Given the description of an element on the screen output the (x, y) to click on. 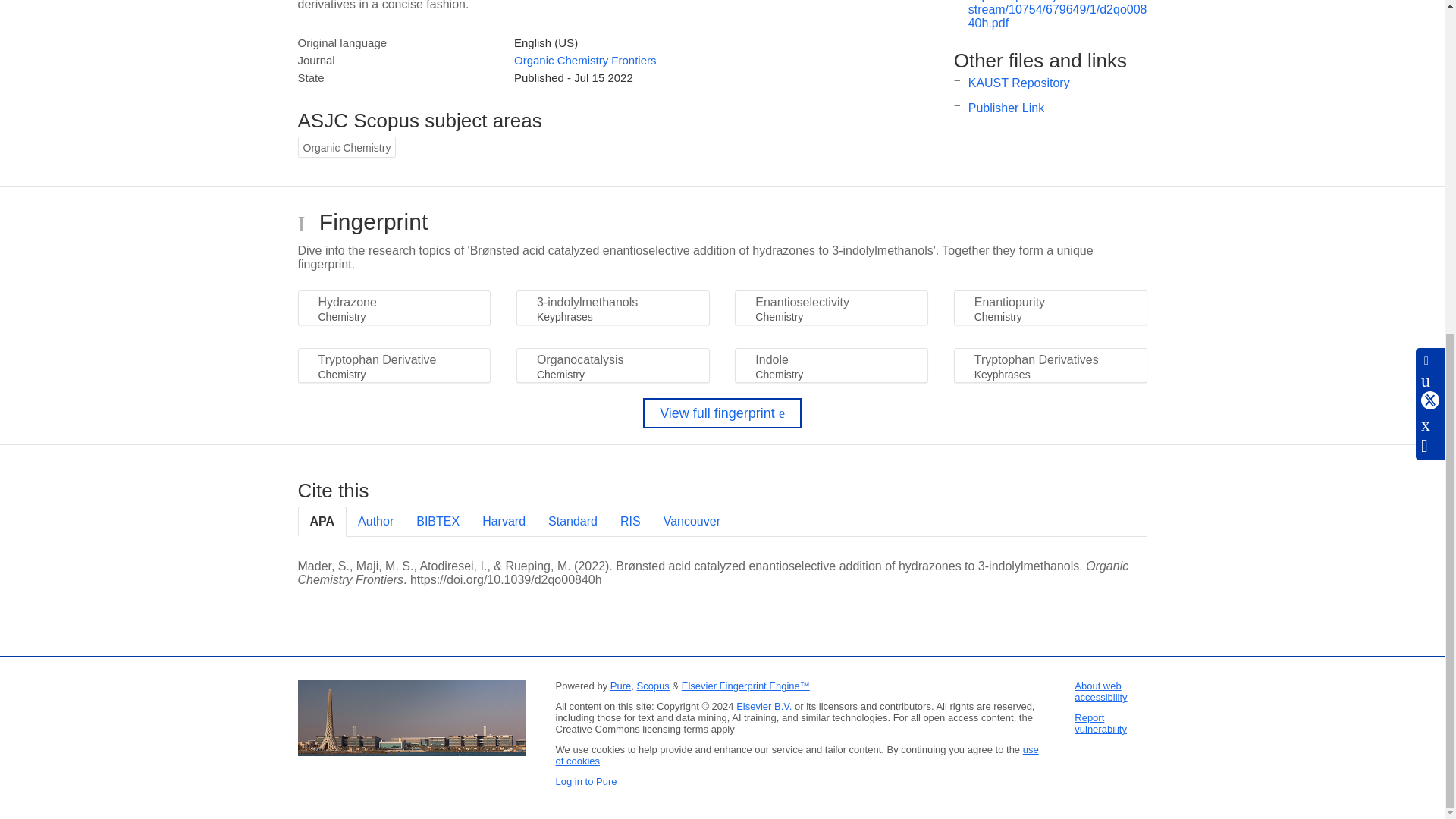
View full fingerprint (722, 413)
Publisher Link (1006, 107)
KAUST Repository (1019, 82)
Organic Chemistry Frontiers (584, 60)
